Given the description of an element on the screen output the (x, y) to click on. 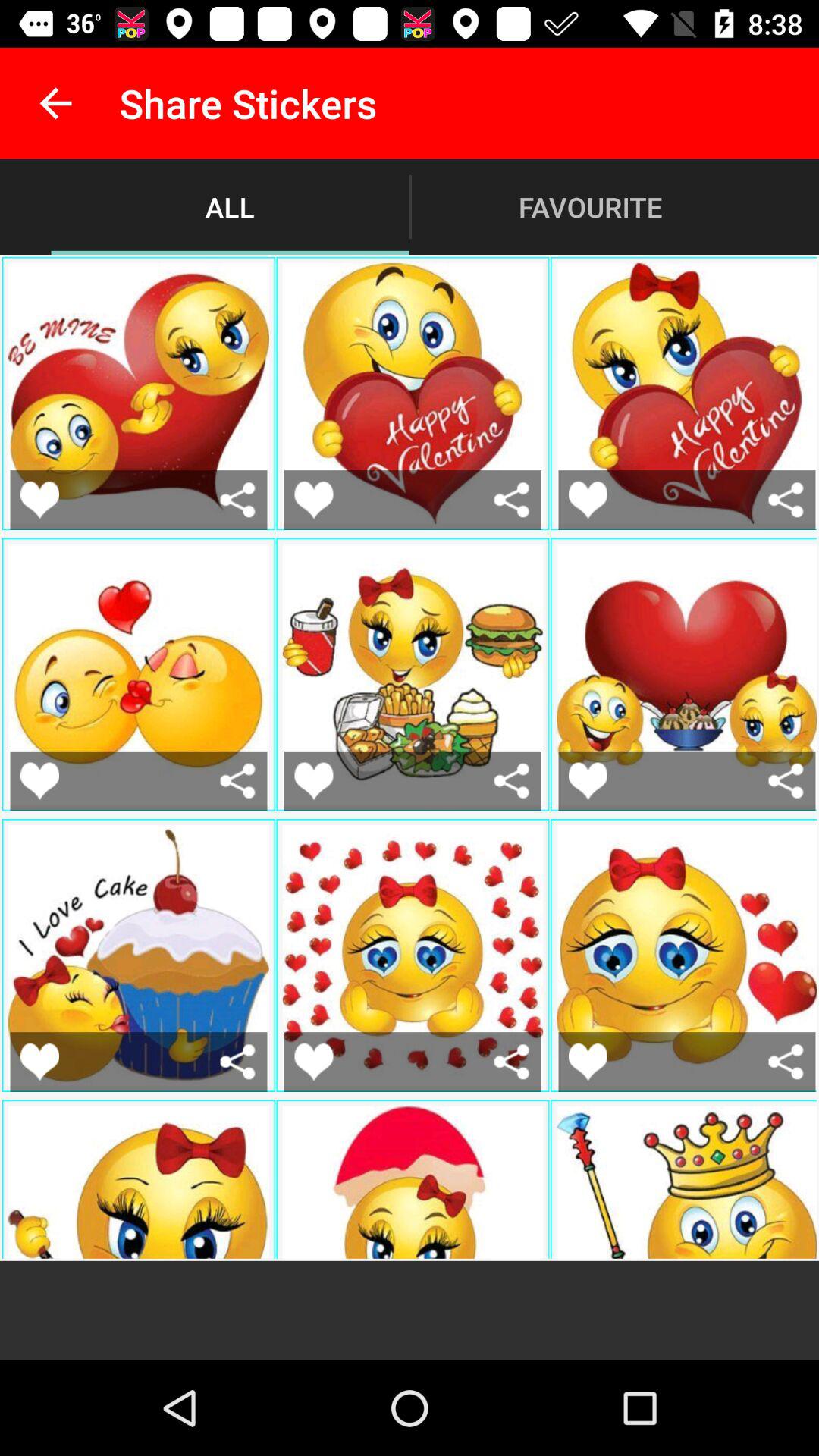
like this sticker (587, 1061)
